Given the description of an element on the screen output the (x, y) to click on. 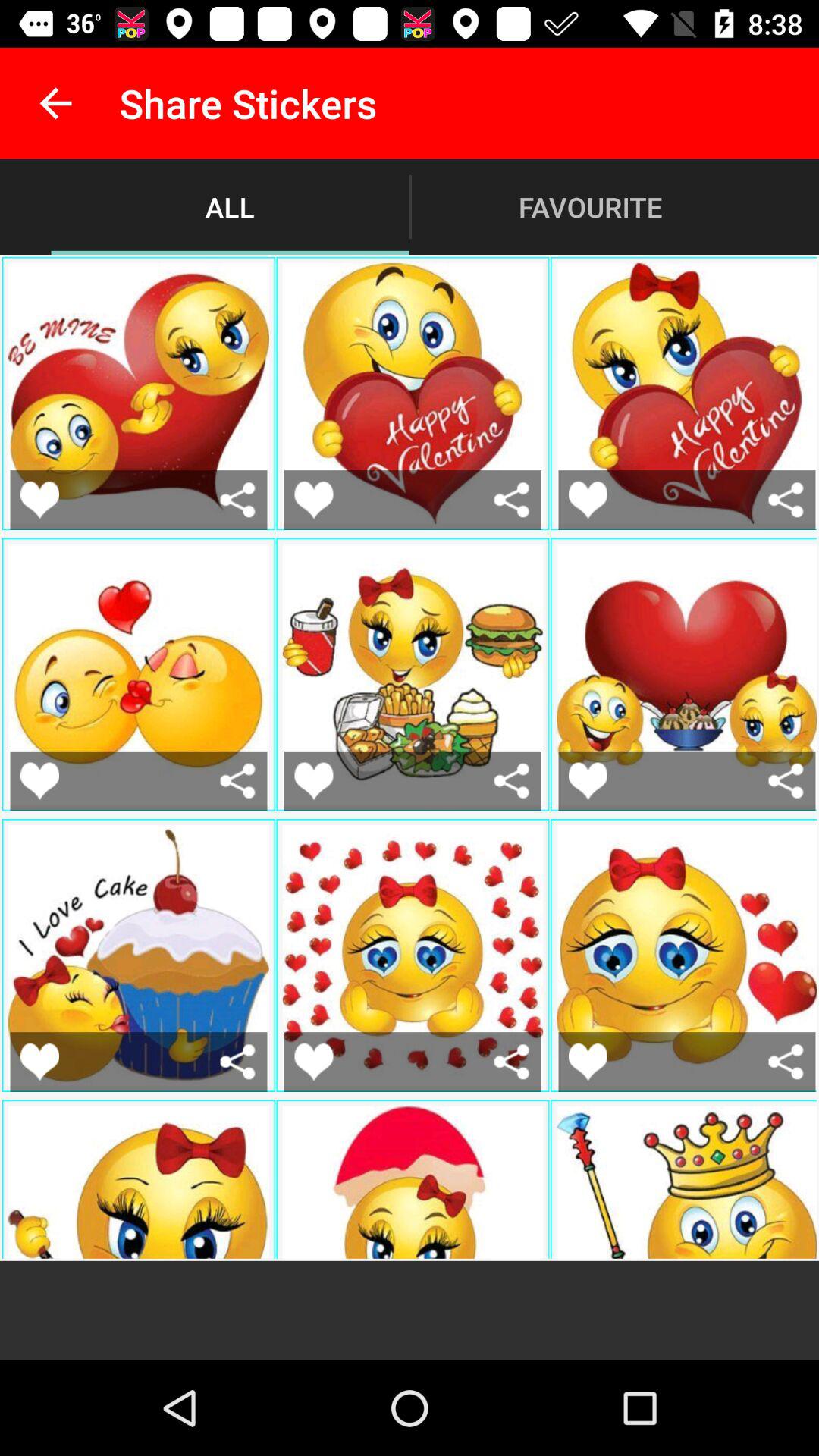
like this sticker (587, 1061)
